Given the description of an element on the screen output the (x, y) to click on. 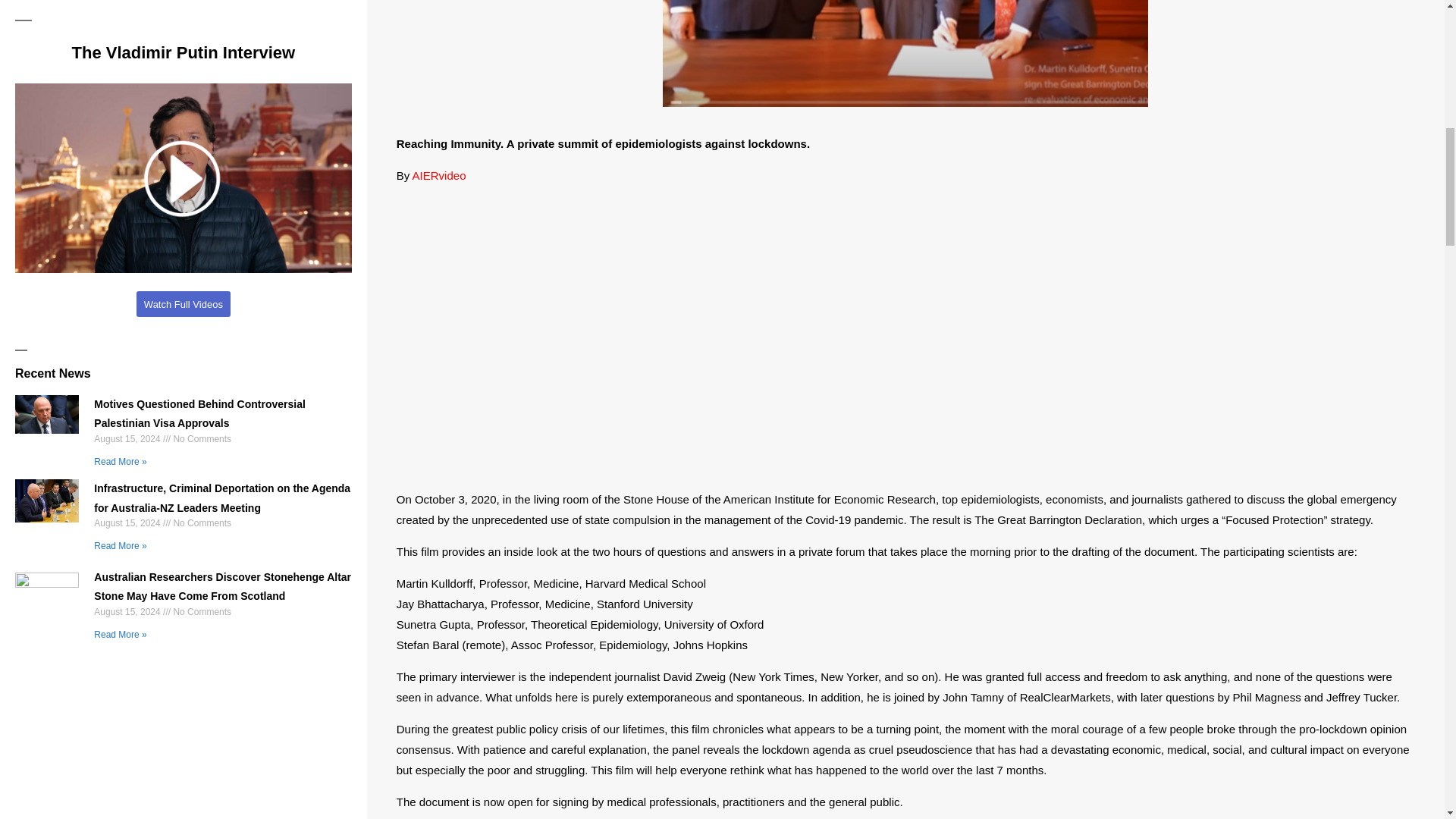
Watch Full Videos (183, 303)
